Given the description of an element on the screen output the (x, y) to click on. 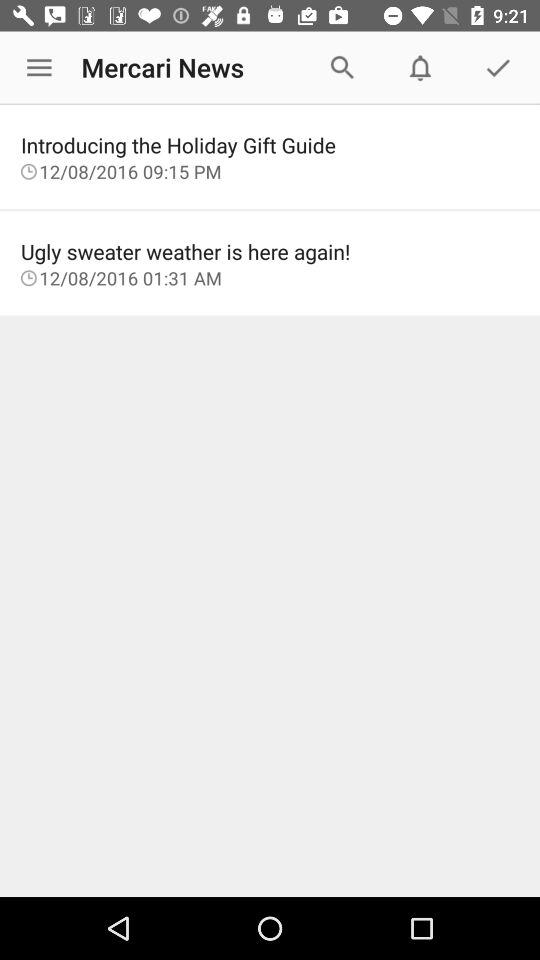
launch the app to the left of the mercari news (39, 67)
